Given the description of an element on the screen output the (x, y) to click on. 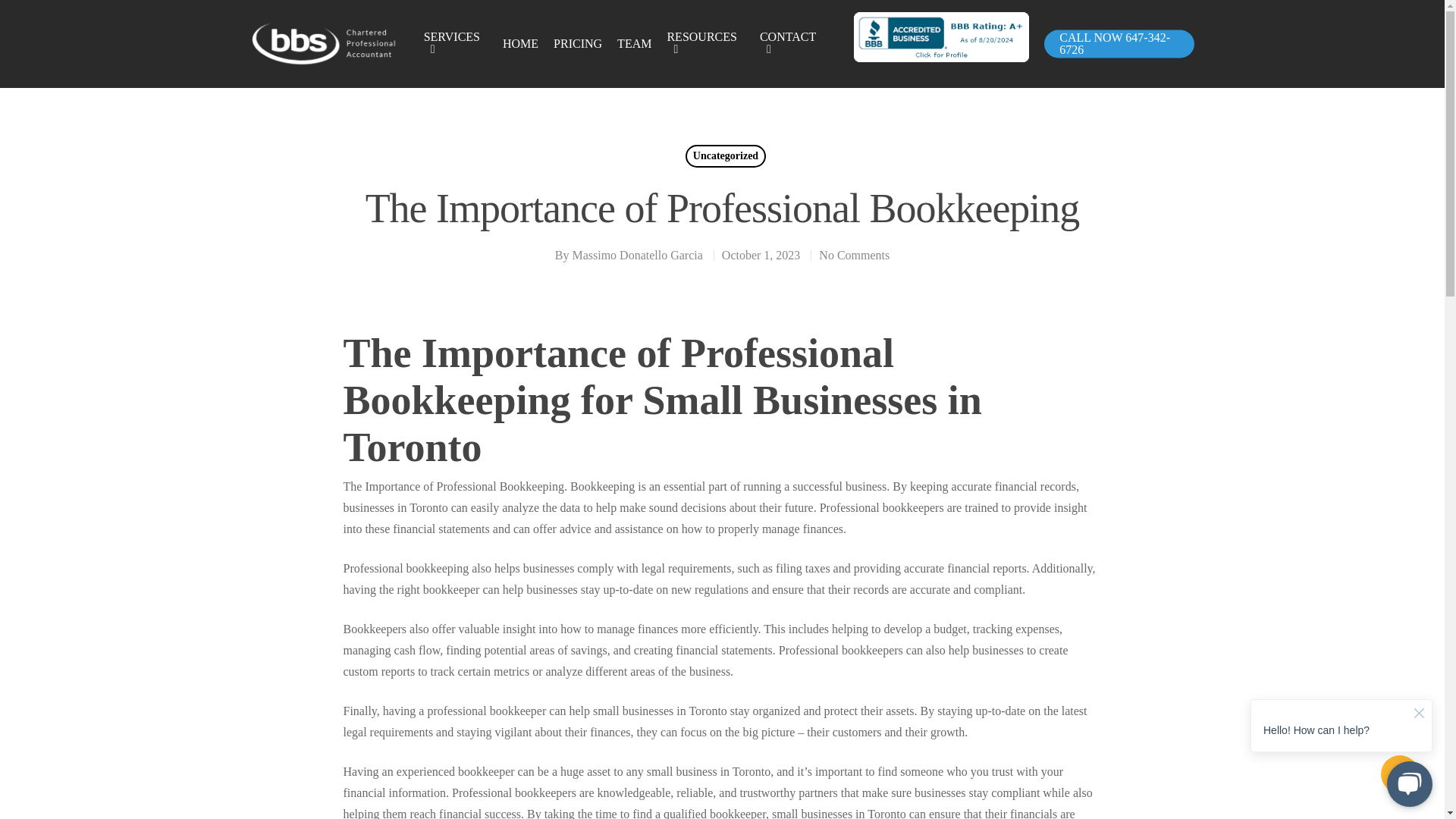
TEAM (633, 43)
PRICING (577, 43)
No Comments (853, 254)
CALL NOW 647-342-6726 (1118, 43)
Uncategorized (725, 155)
CONTACT (792, 43)
RESOURCES (705, 43)
SERVICES (455, 43)
HOME (520, 43)
Posts by Massimo Donatello Garcia (636, 254)
